Given the description of an element on the screen output the (x, y) to click on. 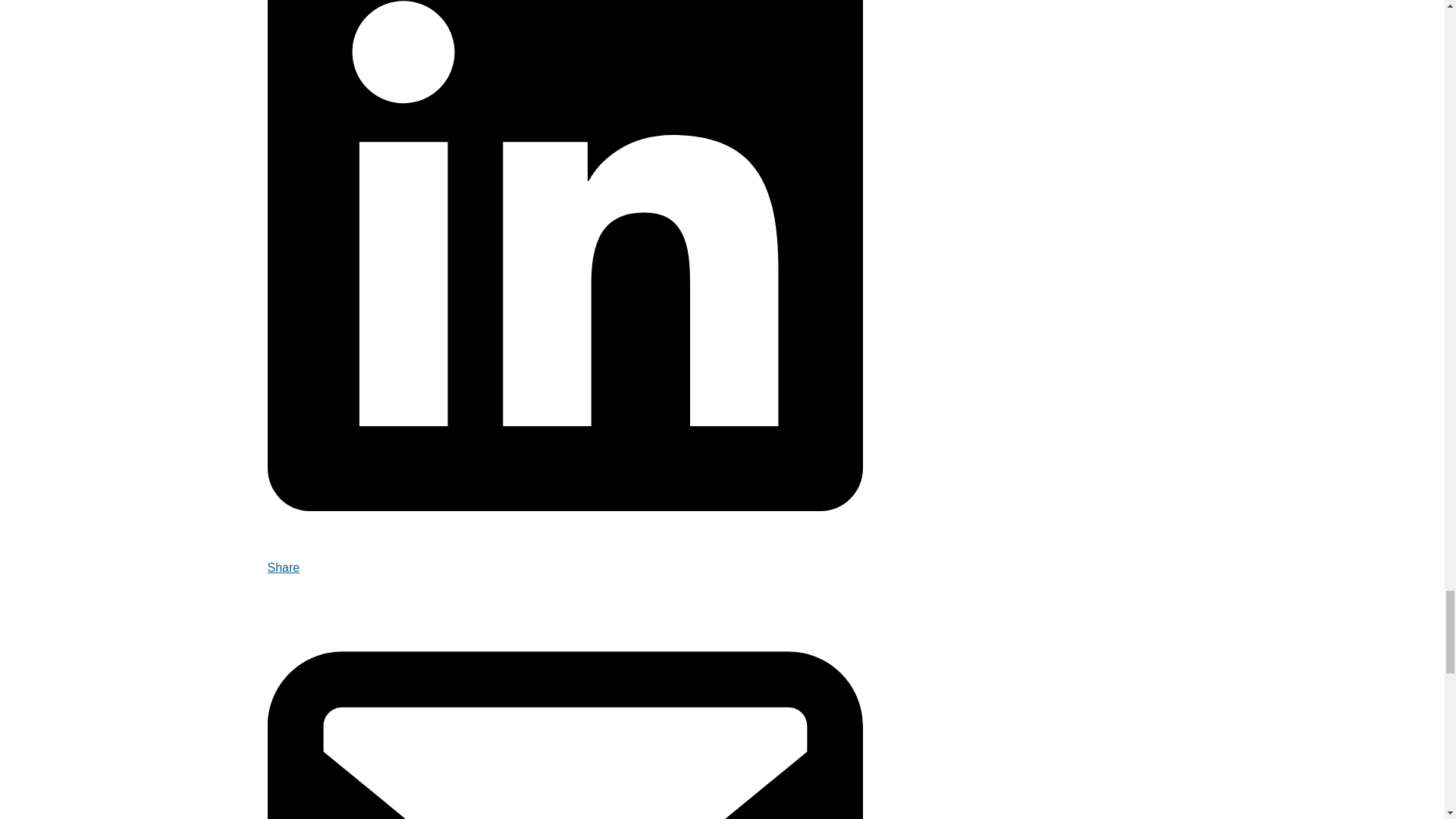
Share (563, 558)
